Given the description of an element on the screen output the (x, y) to click on. 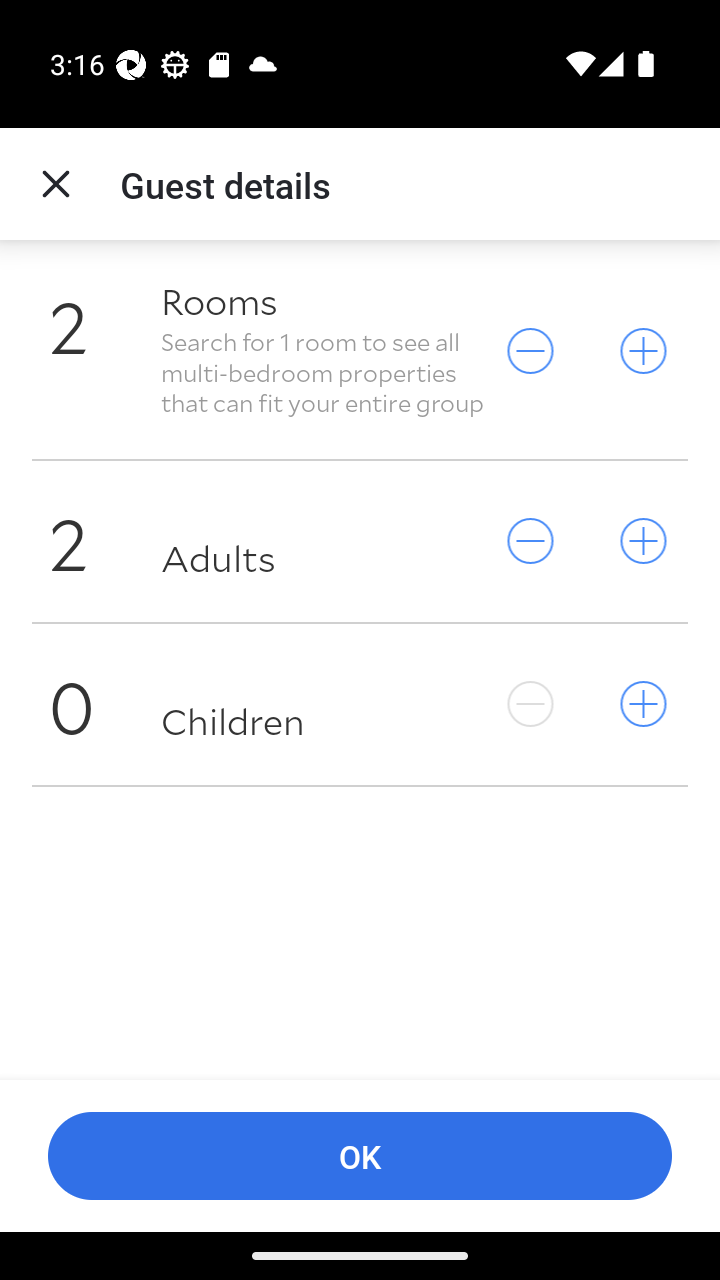
OK (359, 1156)
